Given the description of an element on the screen output the (x, y) to click on. 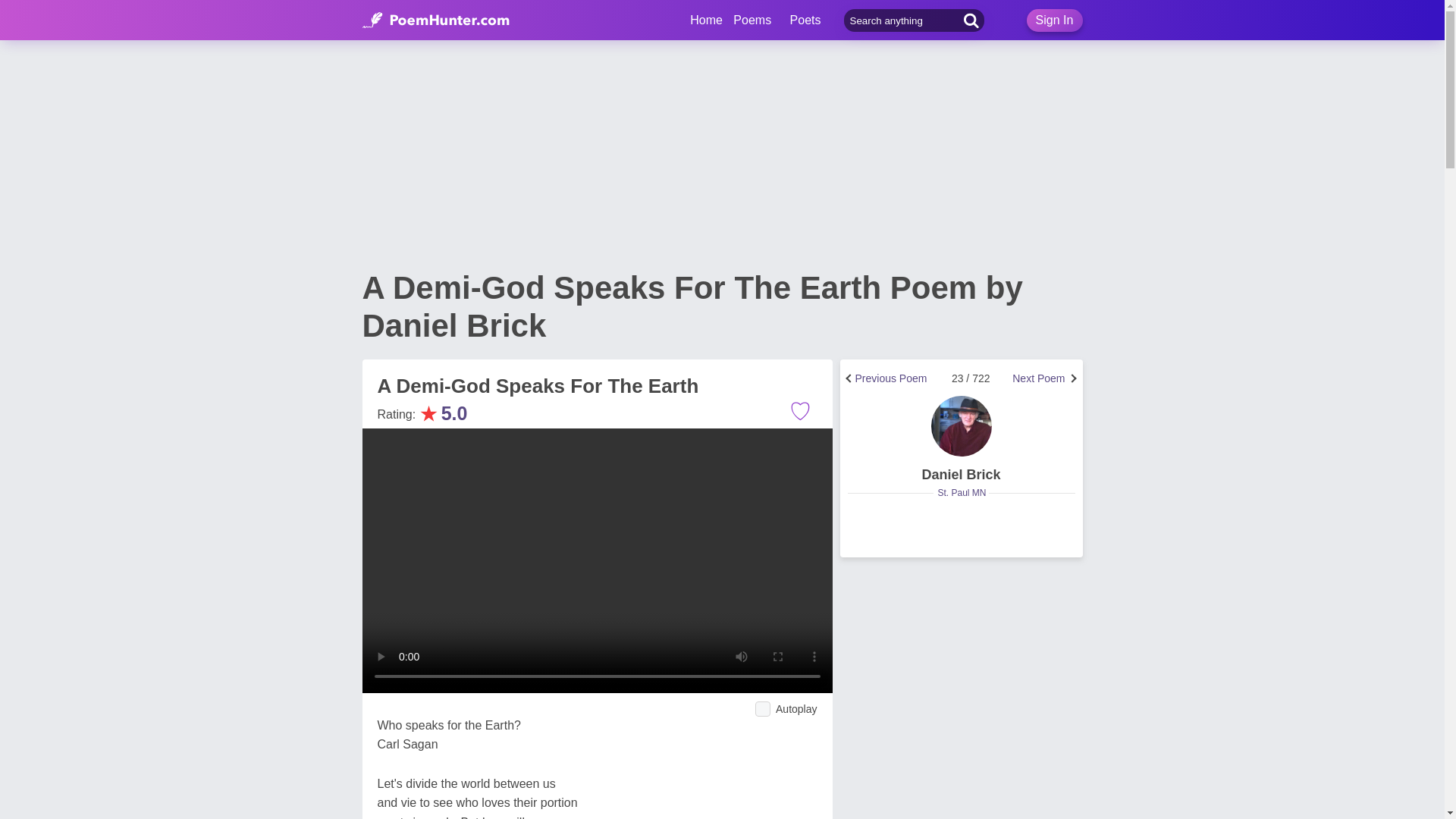
PoemHunter.com: Poems - Poets - Poetry (706, 19)
Home (706, 19)
PoemHunter.com: Poems - Poets - Poetry (435, 20)
Sign In (1054, 19)
